Given the description of an element on the screen output the (x, y) to click on. 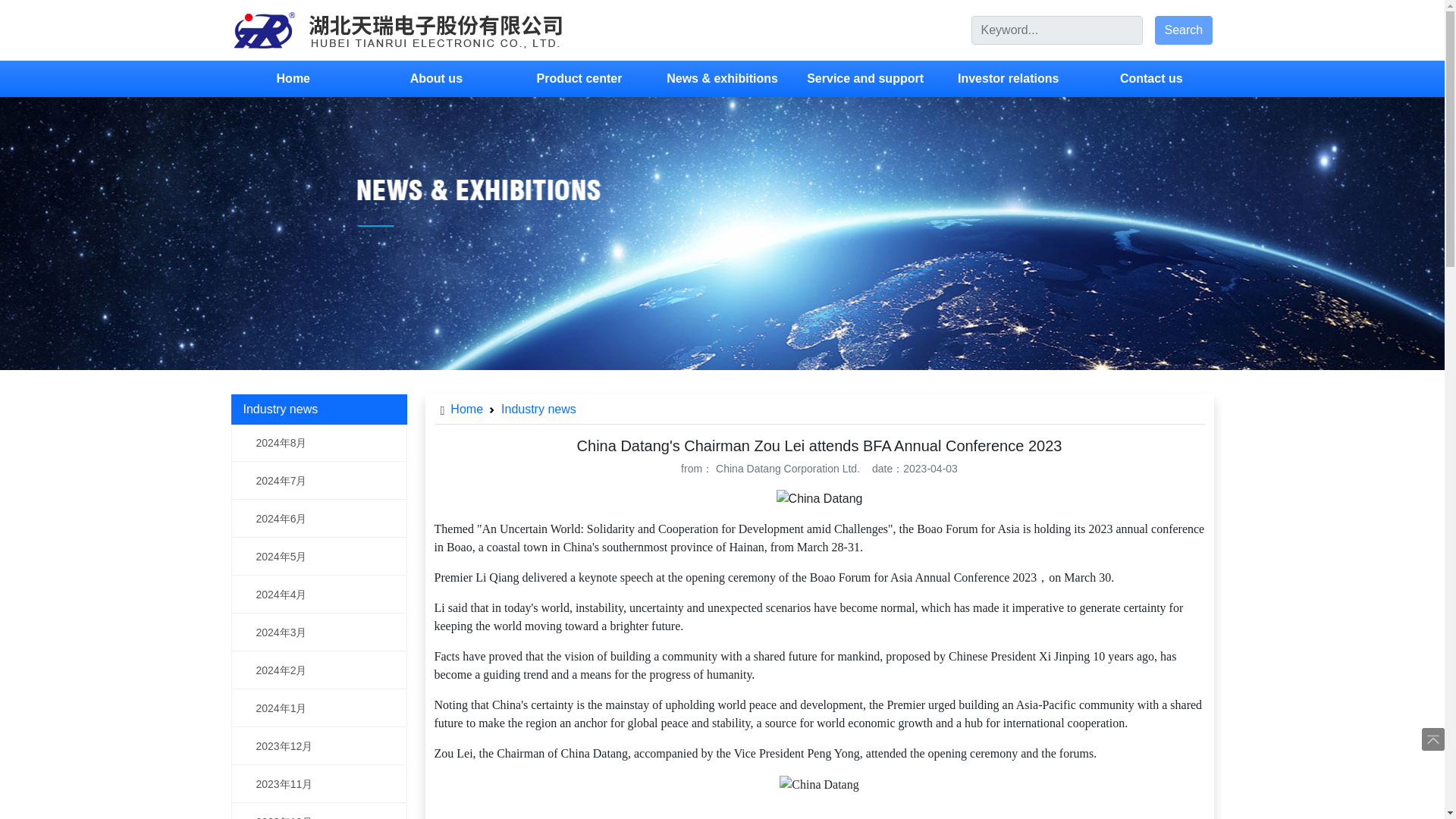
Investor relations (1007, 78)
Contact us (1151, 78)
Search (1183, 30)
Home (292, 78)
Service and support (865, 78)
About us (436, 78)
Product center (579, 78)
